Given the description of an element on the screen output the (x, y) to click on. 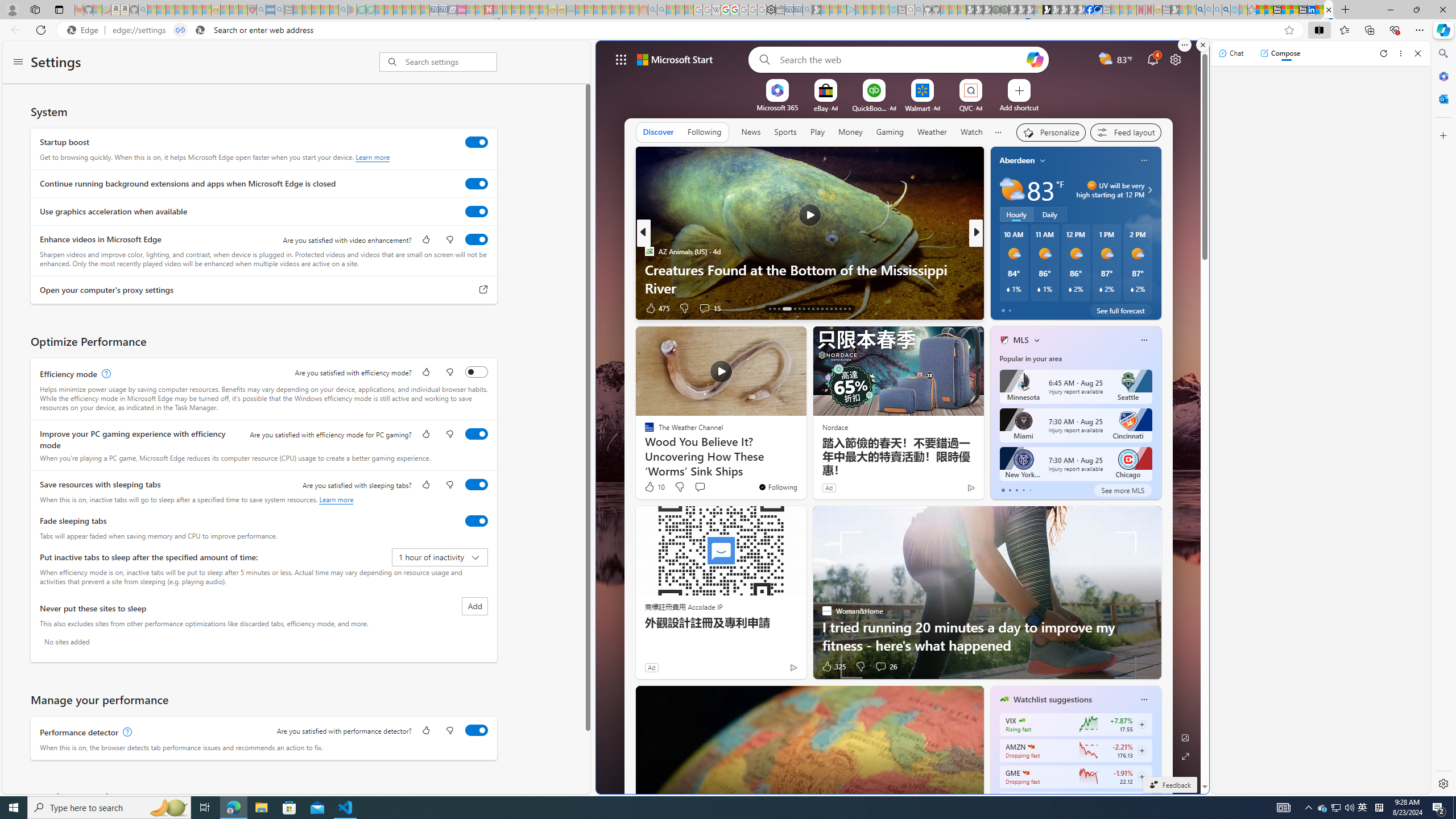
Kinda Frugal - MSN - Sleeping (616, 9)
tab-0 (1002, 489)
Improve your PC gaming experience with efficiency mode (476, 433)
Add a site (1018, 107)
AutomationID: tab-14 (774, 308)
What If (999, 269)
Creatures Found at the Bottom of the Mississippi River (810, 278)
AutomationID: tab-22 (817, 308)
Like (425, 731)
